Given the description of an element on the screen output the (x, y) to click on. 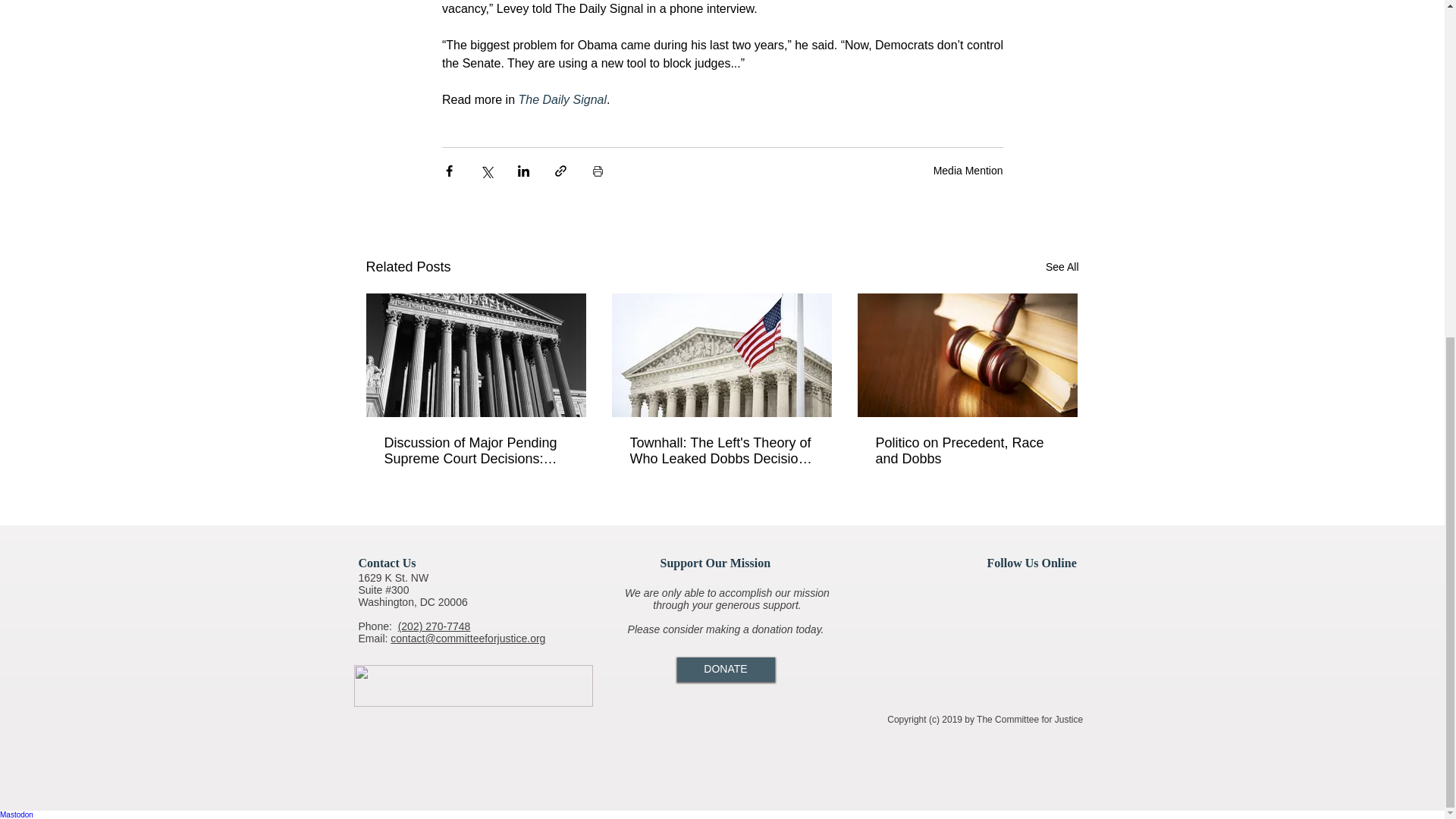
Media Mention (968, 170)
DONATE (725, 669)
Email:  (374, 638)
See All (1061, 267)
The Daily Signal (562, 99)
Politico on Precedent, Race and Dobbs (966, 450)
